Given the description of an element on the screen output the (x, y) to click on. 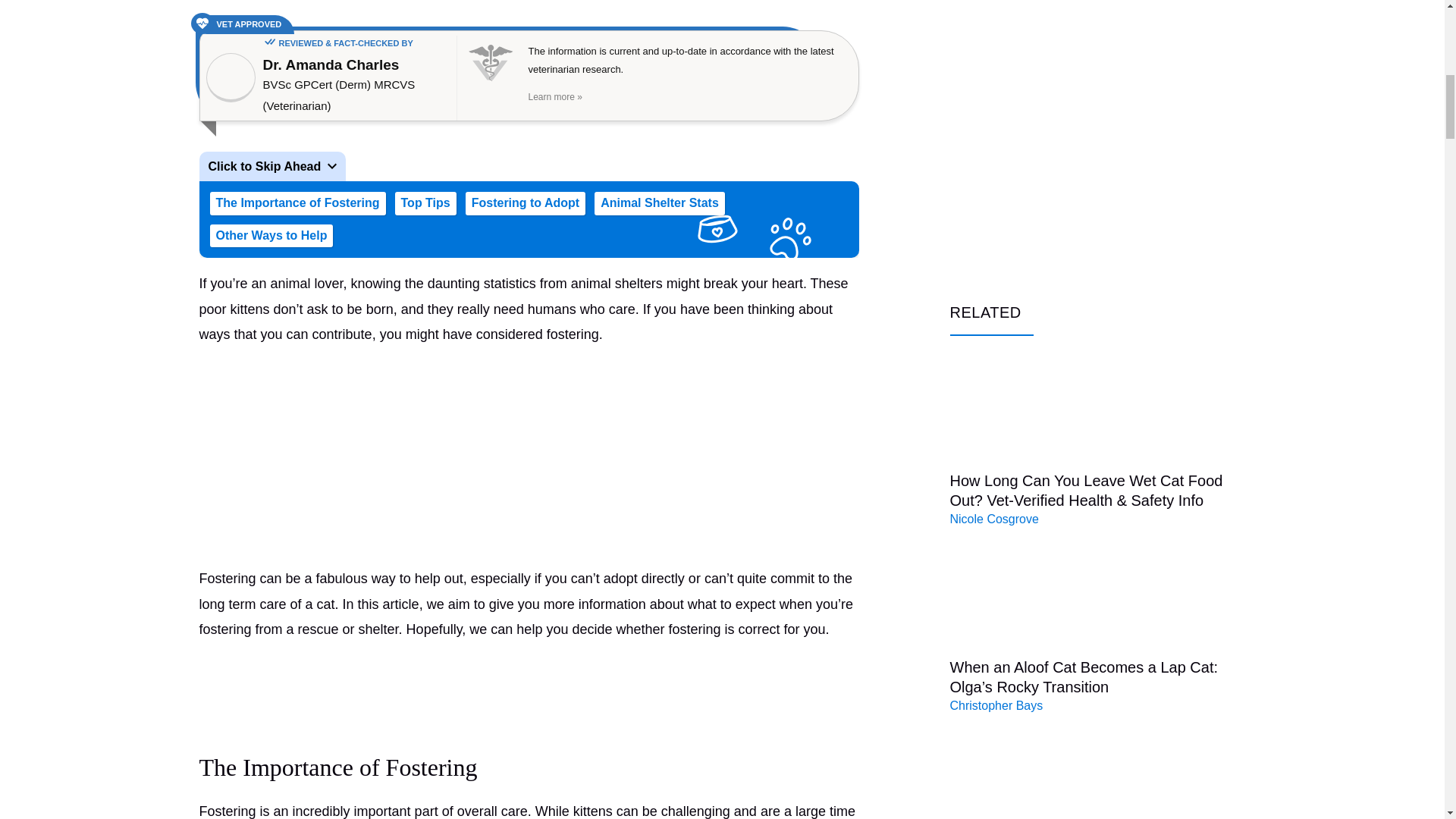
Vet photo (231, 77)
